Given the description of an element on the screen output the (x, y) to click on. 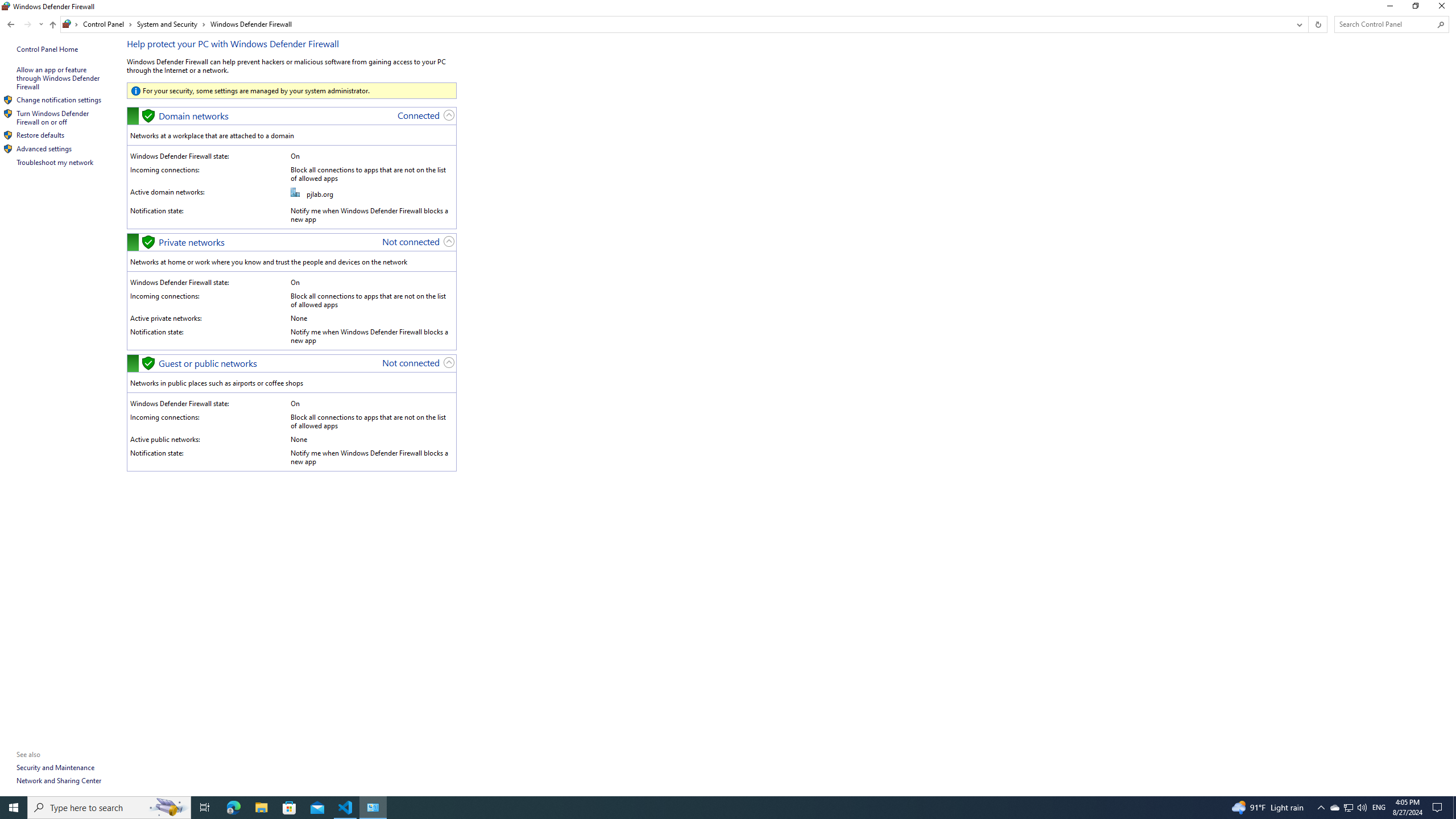
Change notification settings (58, 99)
System (1333, 807)
Address band toolbar (6, 6)
Control Panel - 1 running window (1308, 23)
Previous Locations (373, 807)
Forward (Alt + Right Arrow) (1298, 23)
Not connected (27, 23)
